Given the description of an element on the screen output the (x, y) to click on. 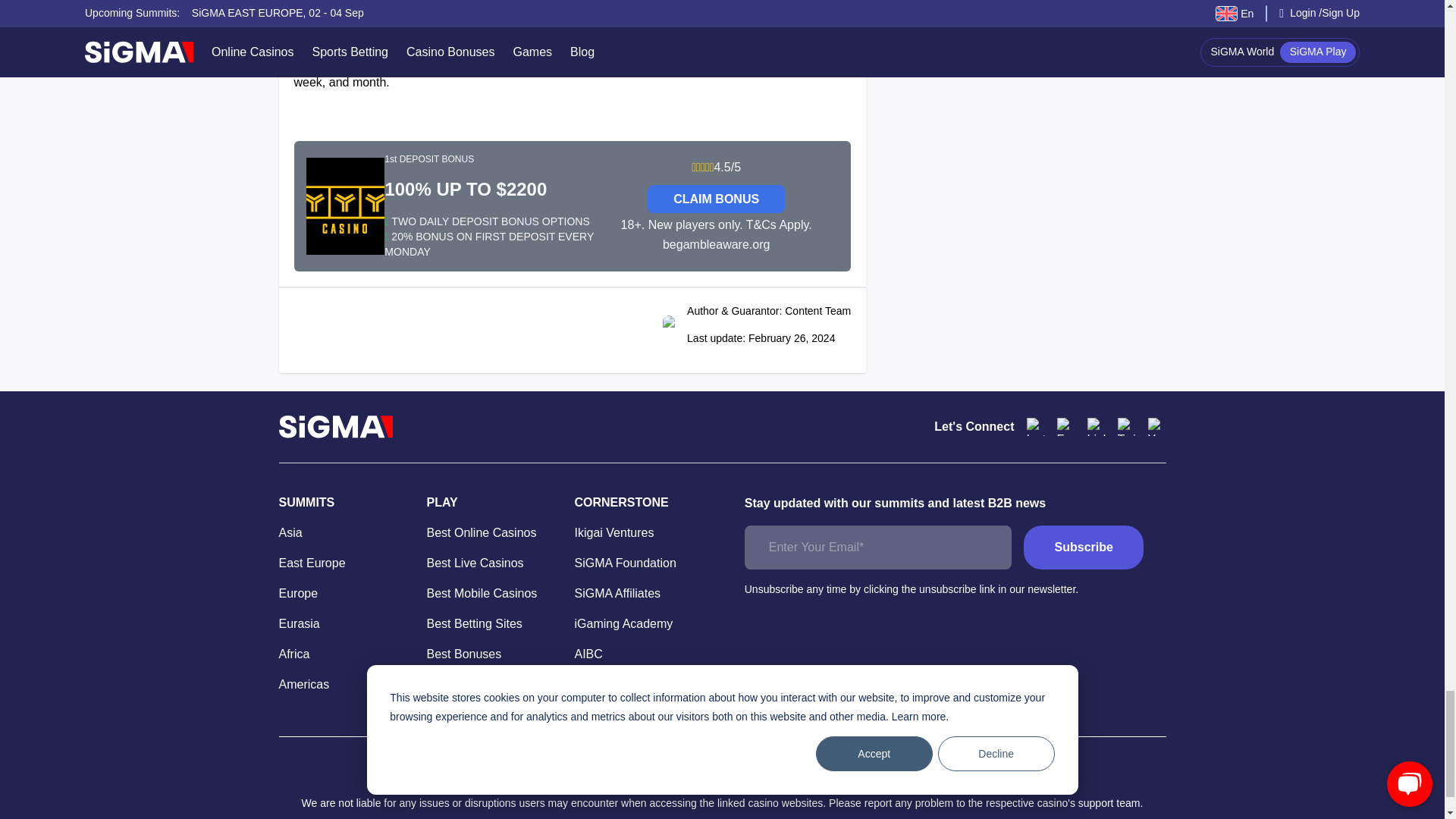
Subscribe (1082, 547)
